Given the description of an element on the screen output the (x, y) to click on. 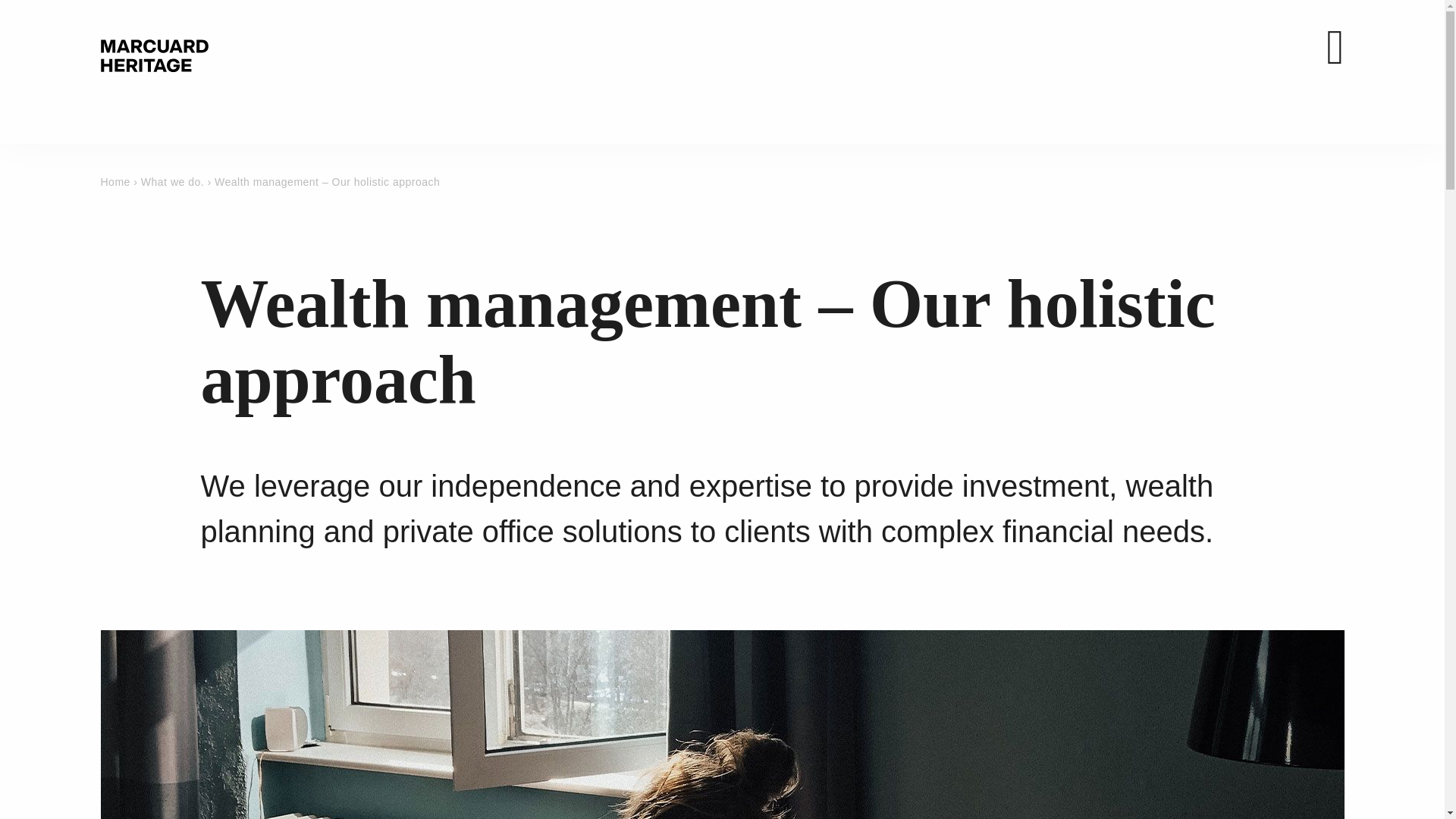
Home (116, 182)
What we do. (174, 182)
